Given the description of an element on the screen output the (x, y) to click on. 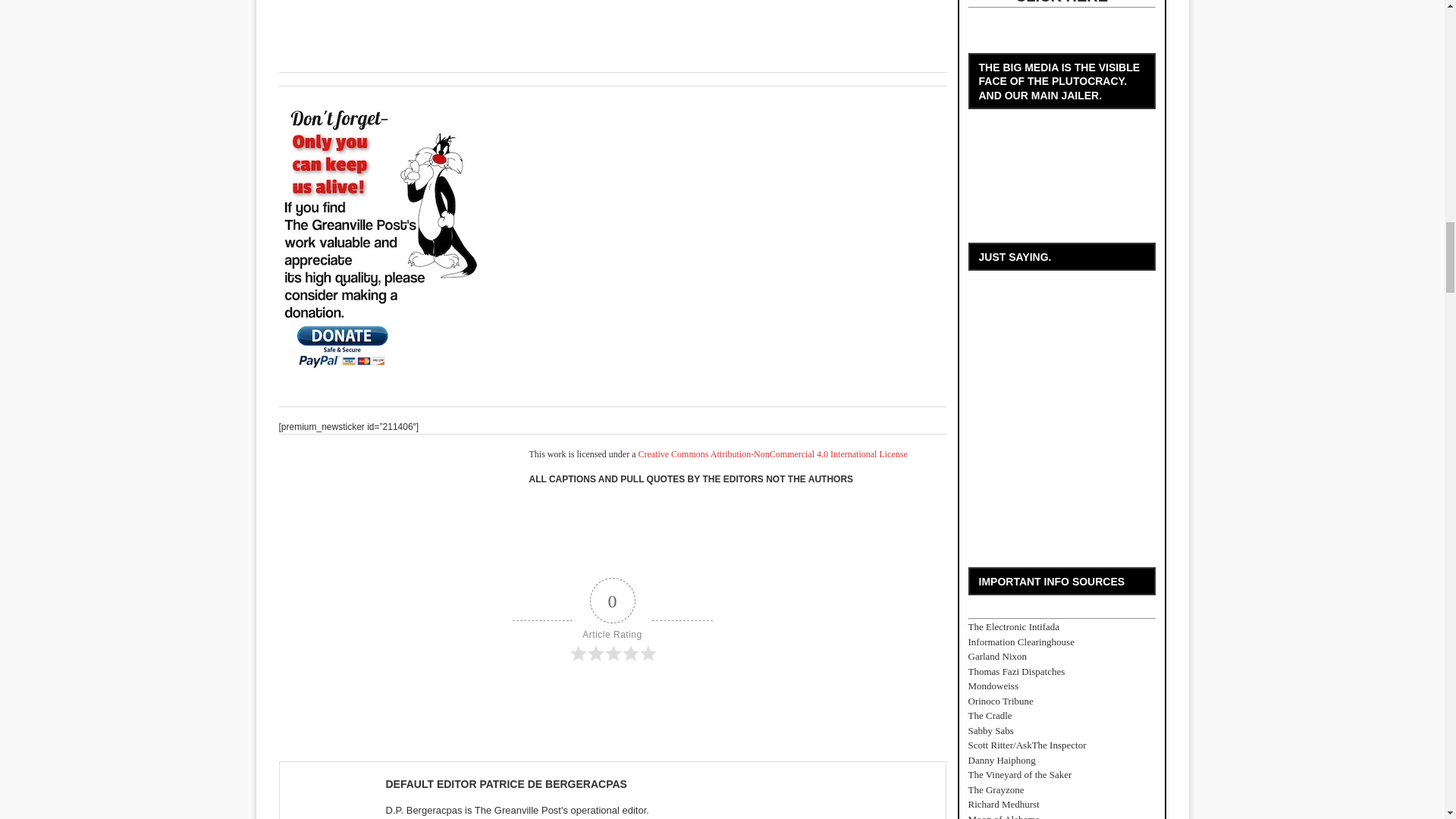
PayPal - The safer, easier way to pay online! (385, 237)
Author Default Editor Patrice de Bergeracpas (505, 784)
